Given the description of an element on the screen output the (x, y) to click on. 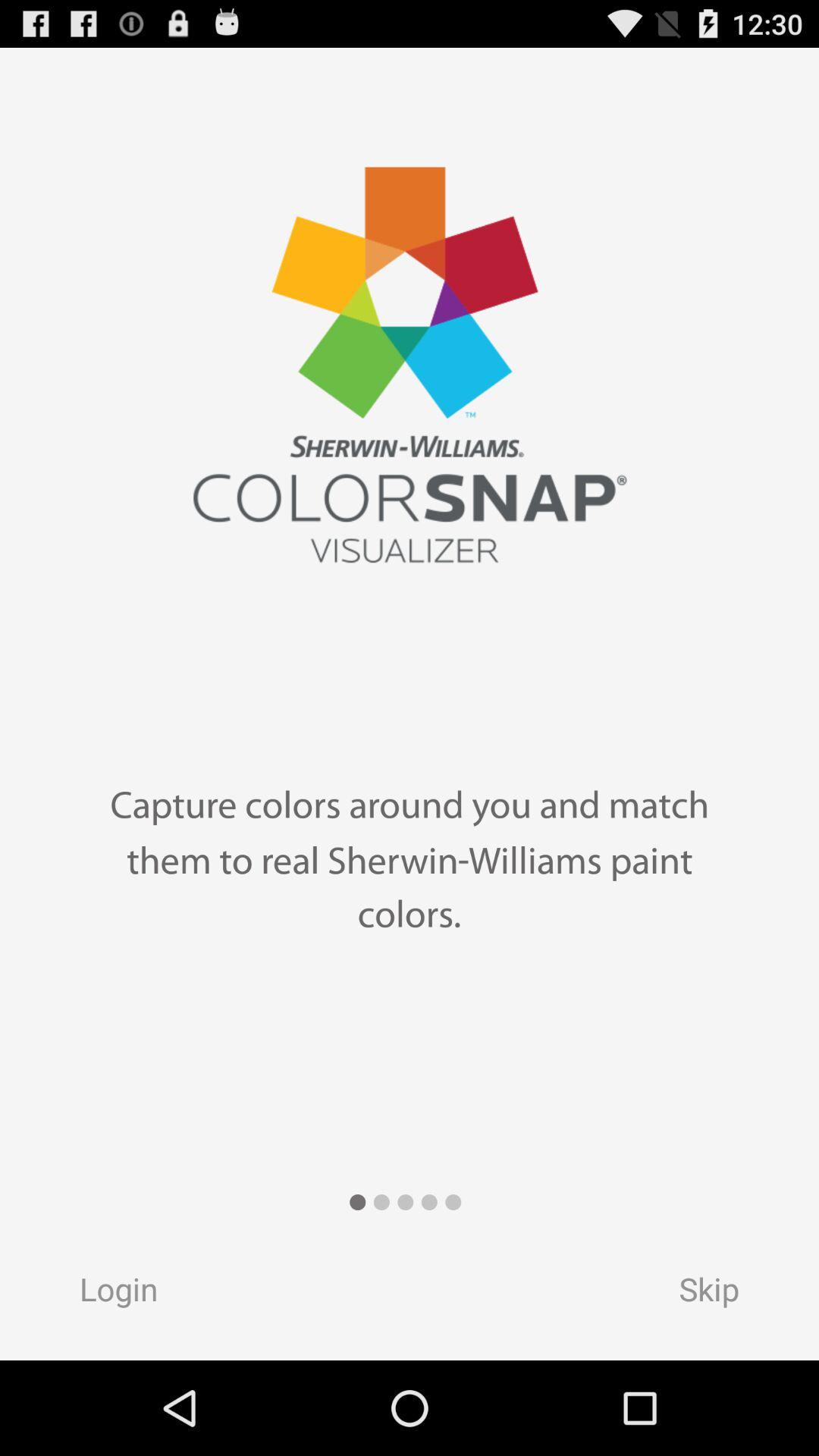
swipe until the skip button (724, 1293)
